Given the description of an element on the screen output the (x, y) to click on. 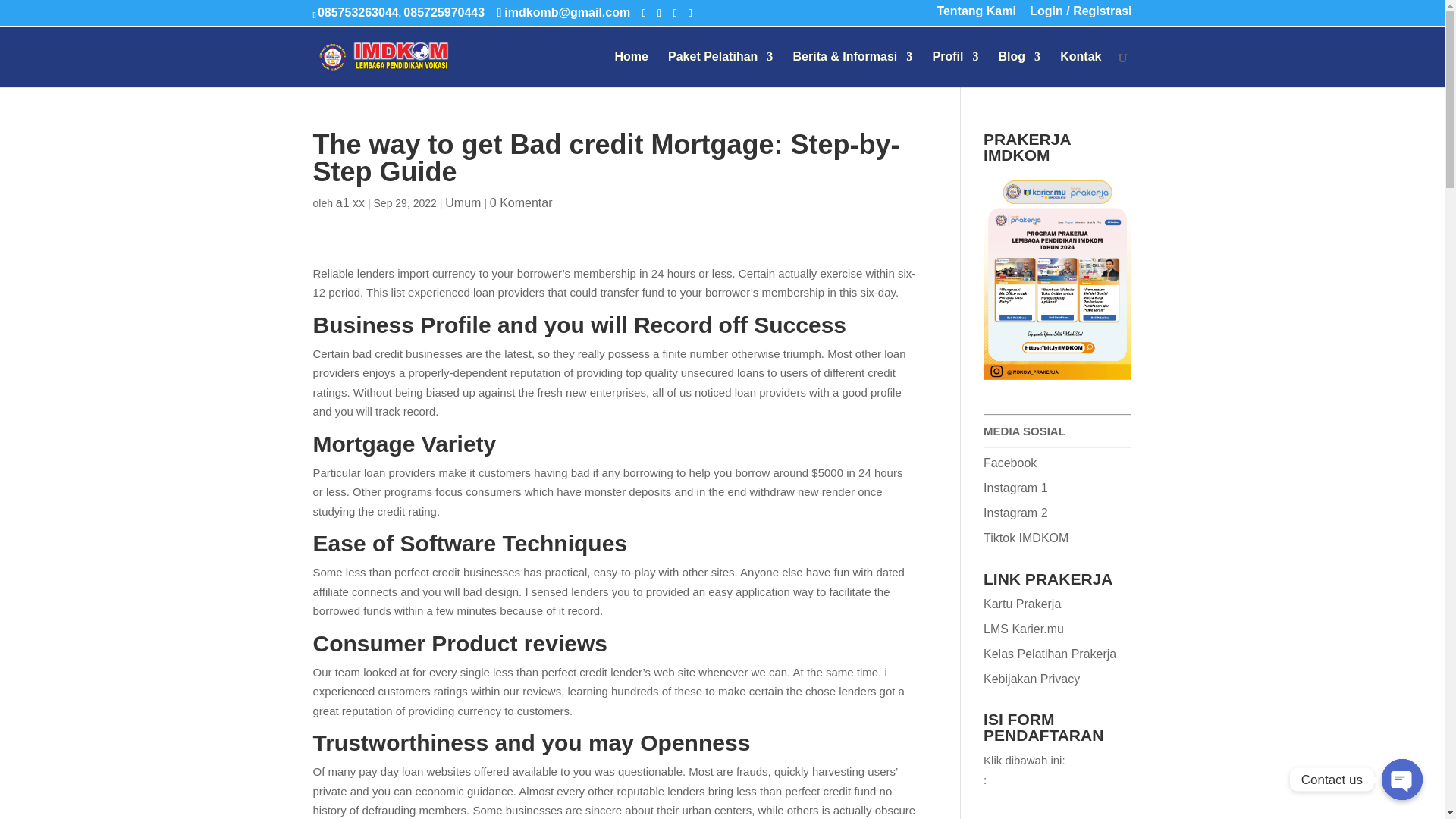
Paket Pelatihan (720, 68)
Profil (954, 68)
Tentang Kami (976, 15)
Home (630, 68)
Kontak (1079, 68)
Blog (1019, 68)
Postingan oleh a1 xx (350, 202)
085753263044 (357, 11)
085725970443 (443, 11)
